Given the description of an element on the screen output the (x, y) to click on. 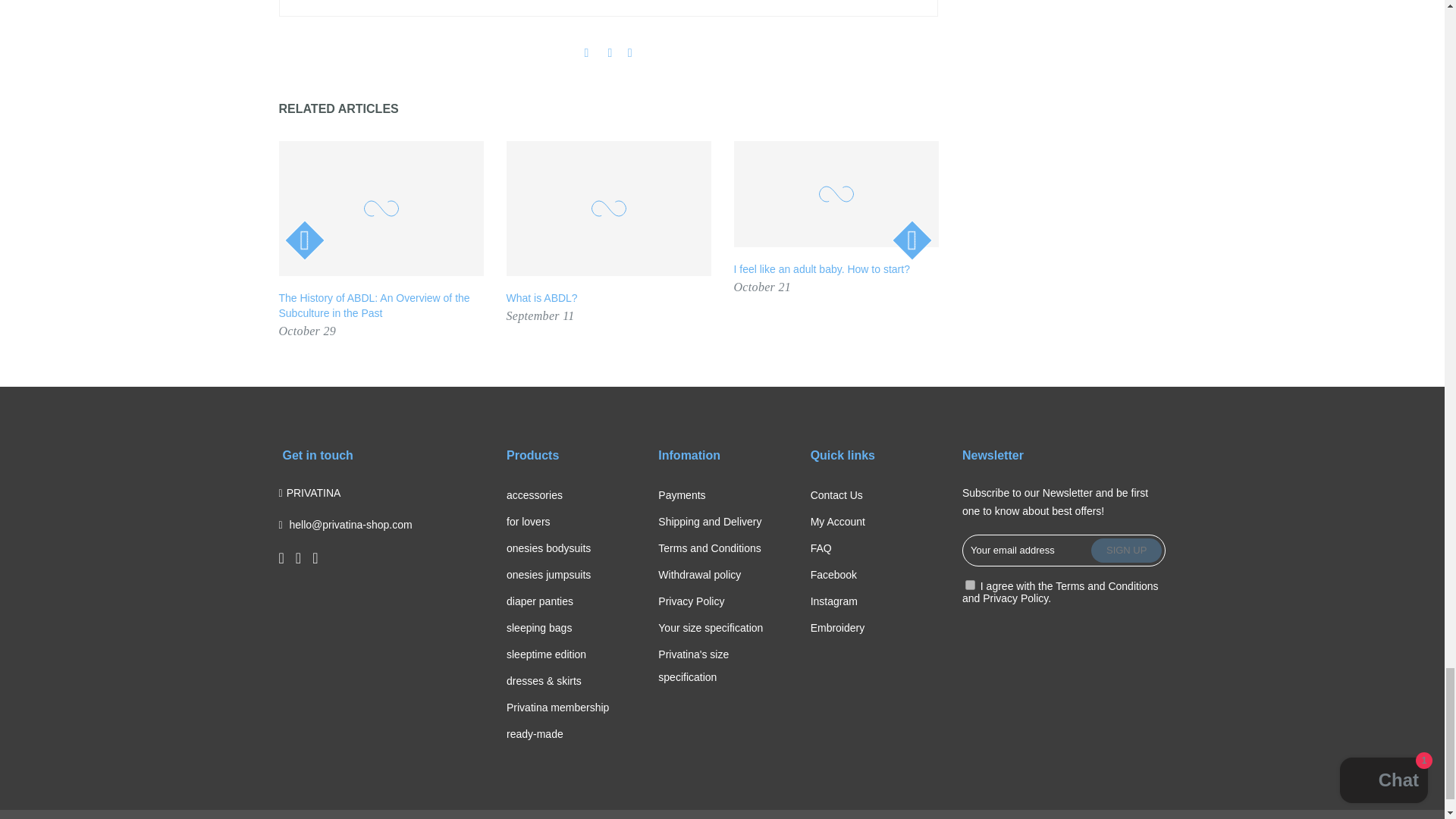
Sign up (1125, 550)
on (970, 584)
